Given the description of an element on the screen output the (x, y) to click on. 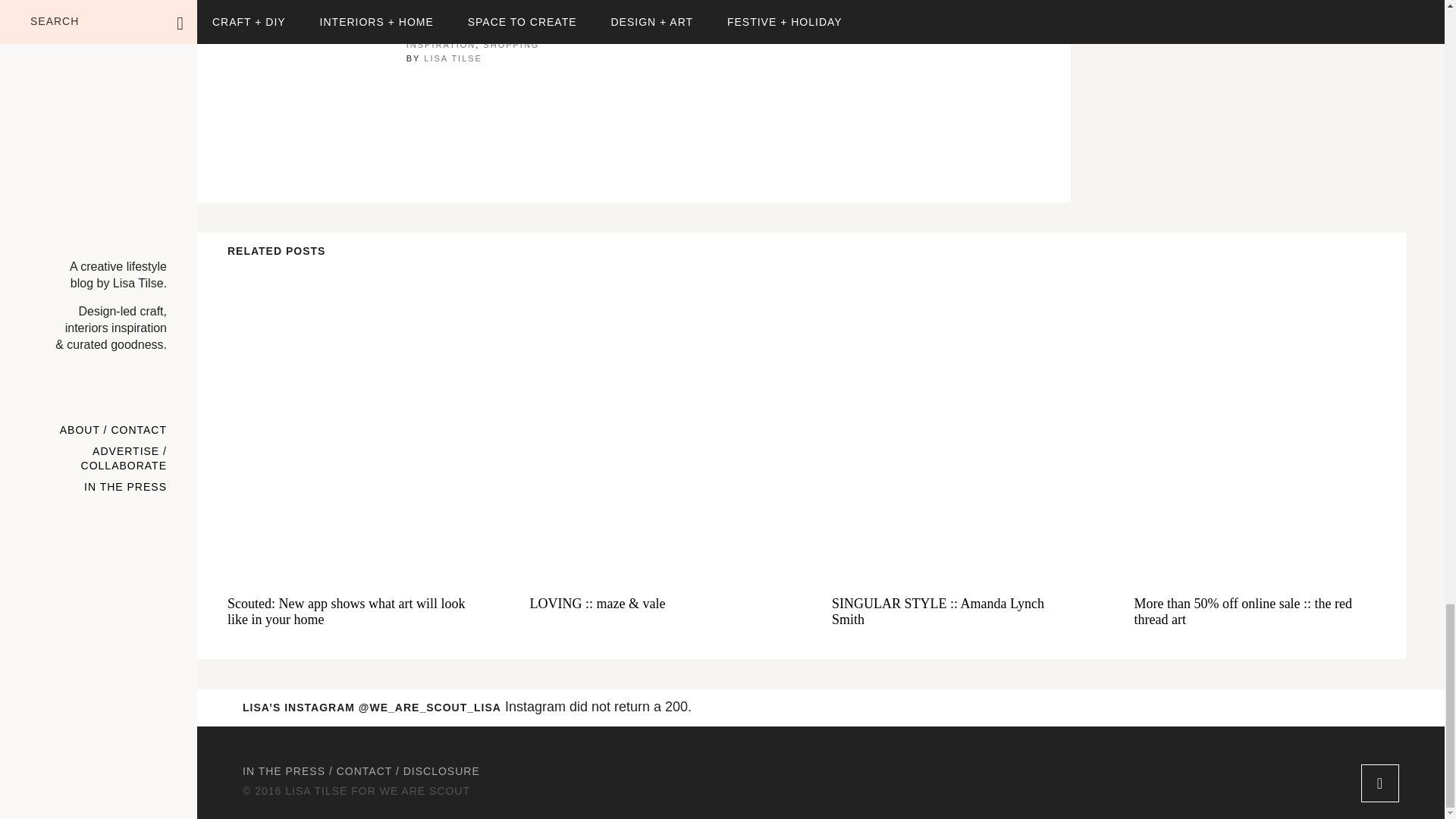
Permanent Link toSINGULAR STYLE :: Amanda Lynch Smith (952, 421)
Permanent Link toSINGULAR STYLE :: Amanda Lynch Smith (952, 612)
